Given the description of an element on the screen output the (x, y) to click on. 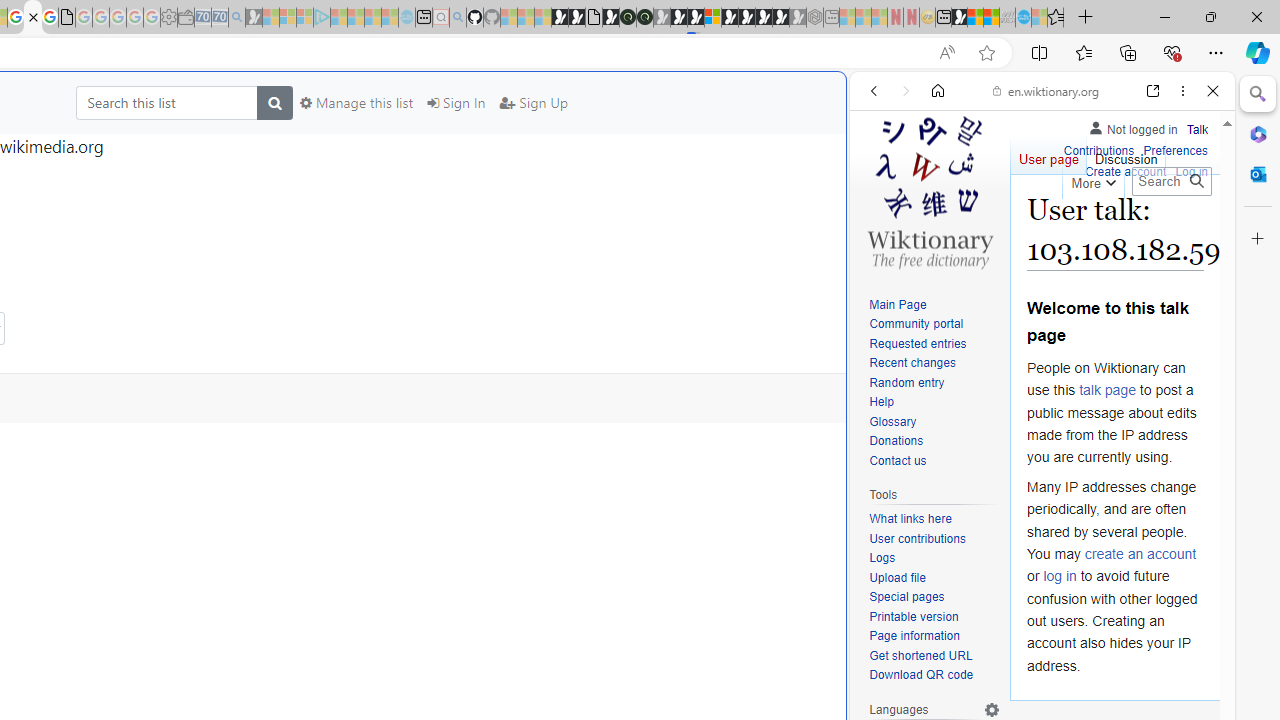
Play Cave FRVR in your browser | Games from Microsoft Start (678, 17)
Random entry (934, 382)
Upload file (934, 578)
Donations (934, 442)
Play Zoo Boom in your browser | Games from Microsoft Start (576, 17)
Log in (1191, 172)
Discussion (1125, 154)
